Given the description of an element on the screen output the (x, y) to click on. 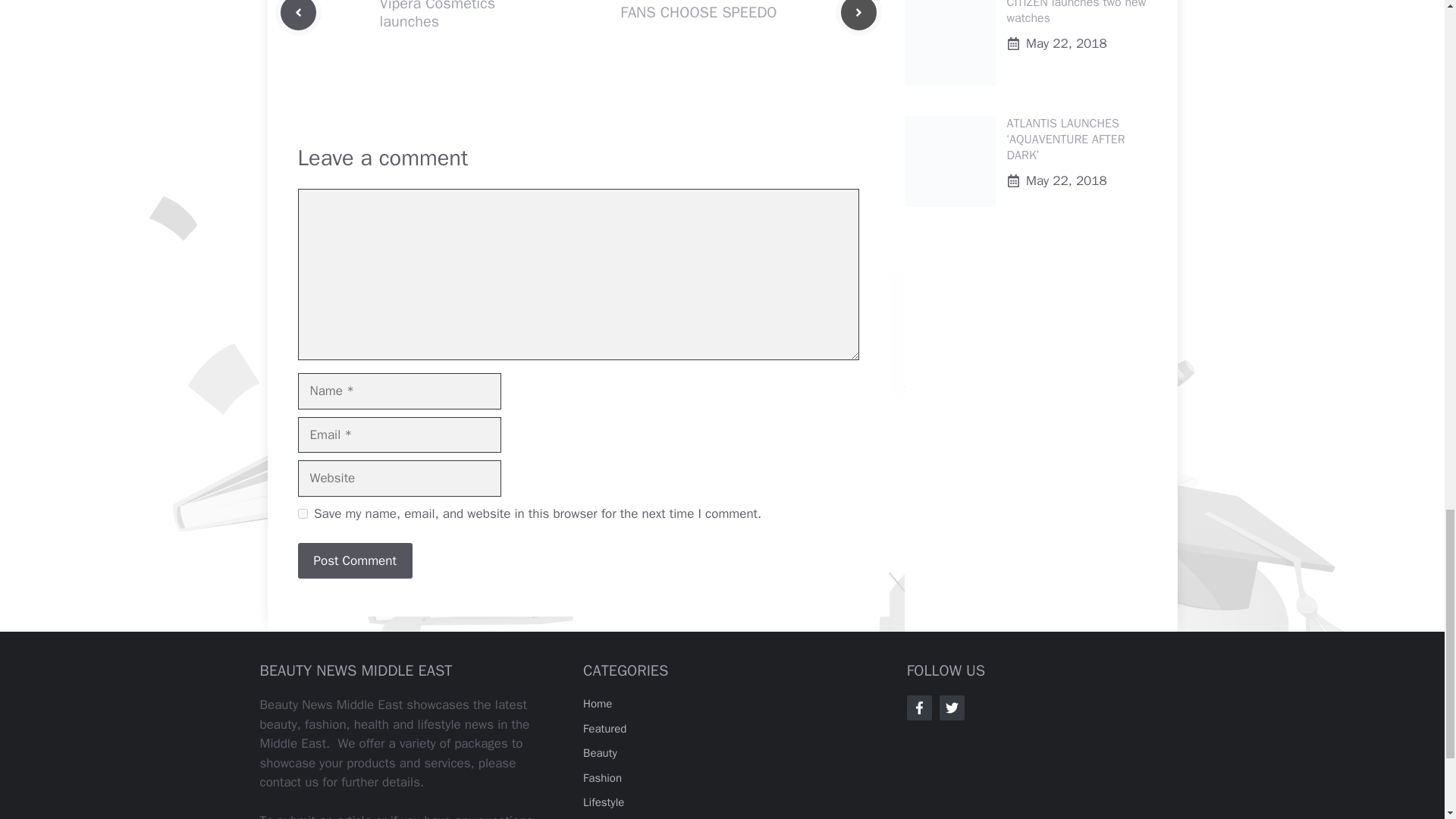
Post Comment (354, 560)
yes (302, 513)
